Given the description of an element on the screen output the (x, y) to click on. 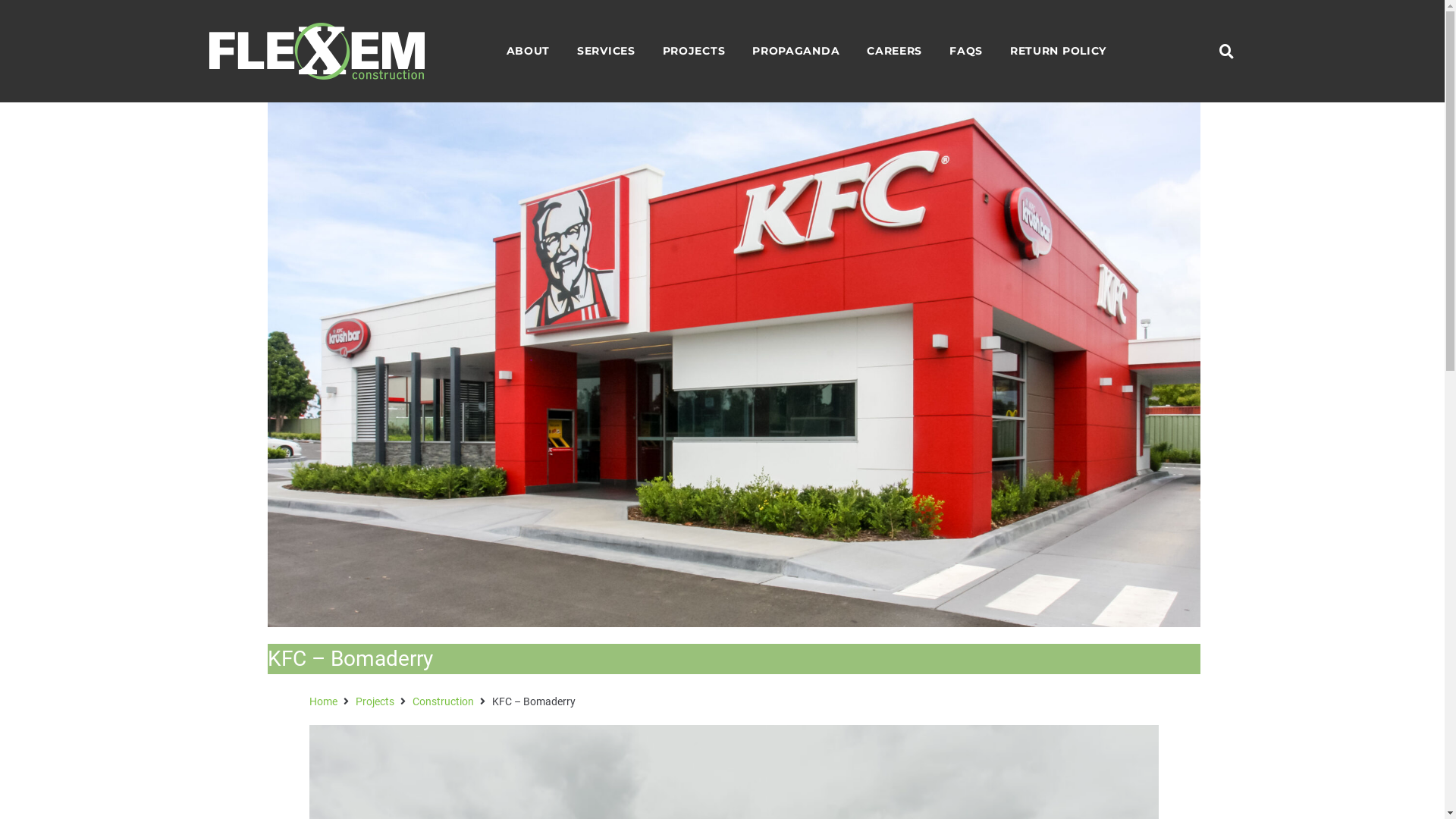
Projects Element type: text (373, 701)
Construction Element type: text (442, 701)
CAREERS Element type: text (894, 50)
PROPAGANDA Element type: text (795, 50)
Home Element type: text (323, 701)
ABOUT Element type: text (528, 50)
PROJECTS Element type: text (693, 50)
SERVICES Element type: text (606, 50)
RETURN POLICY Element type: text (1058, 50)
FAQS Element type: text (965, 50)
